Given the description of an element on the screen output the (x, y) to click on. 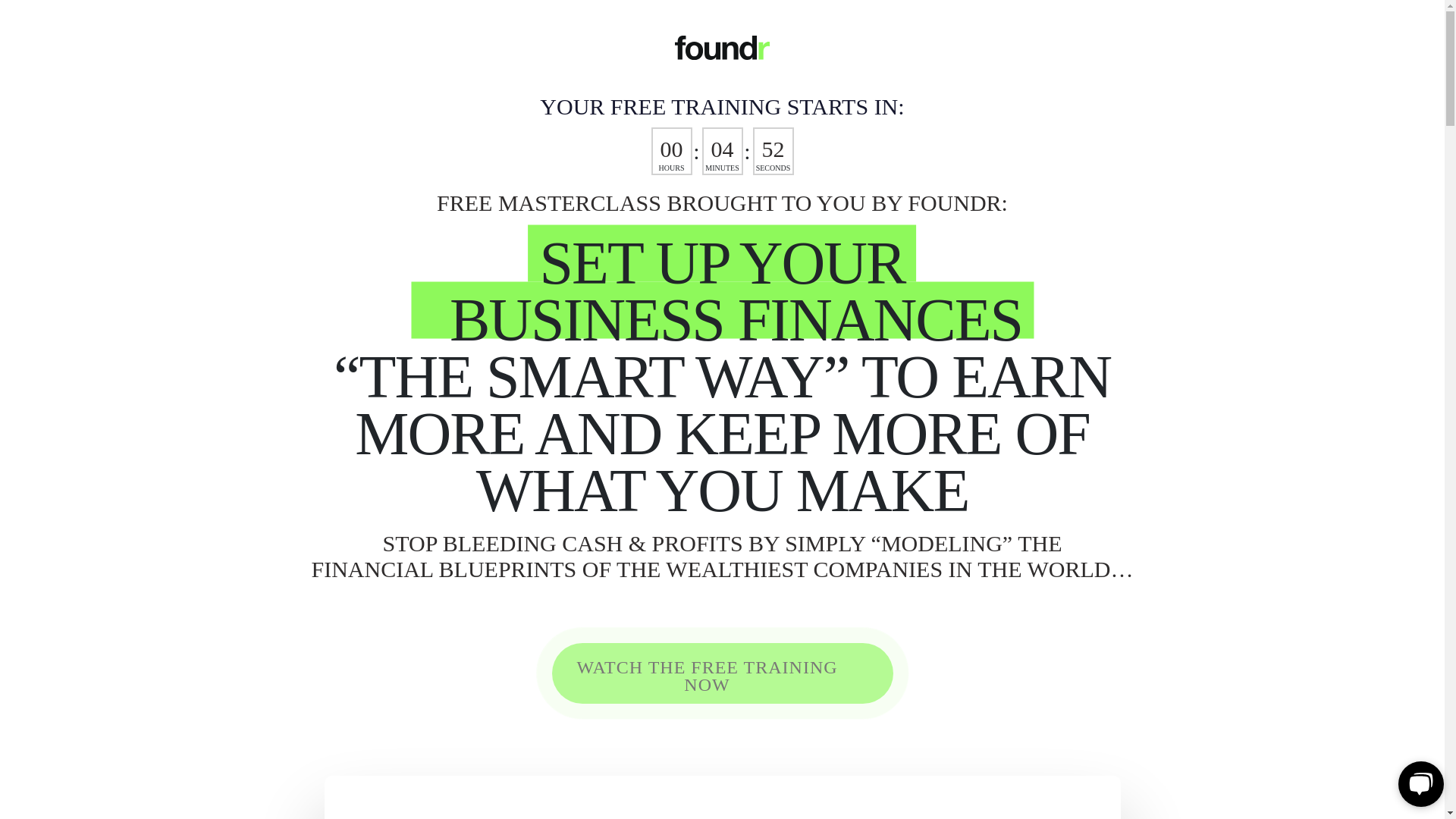
WATCH THE FREE TRAINING NOW (722, 672)
Chat Widget (1418, 782)
